Given the description of an element on the screen output the (x, y) to click on. 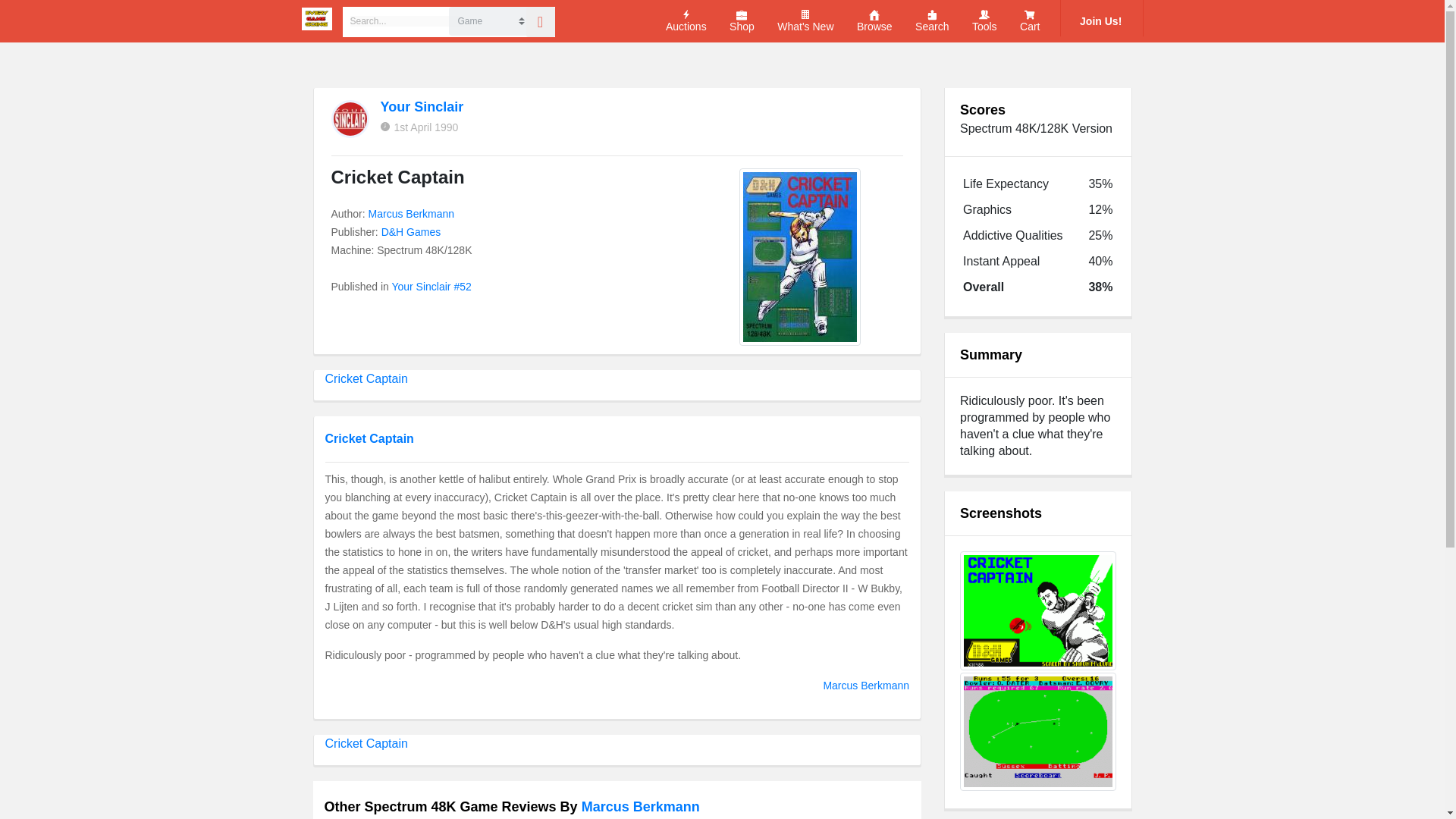
Auctions (685, 20)
Browse (874, 20)
Tools (984, 20)
Shop (741, 20)
Search (932, 20)
What's New (804, 20)
